Given the description of an element on the screen output the (x, y) to click on. 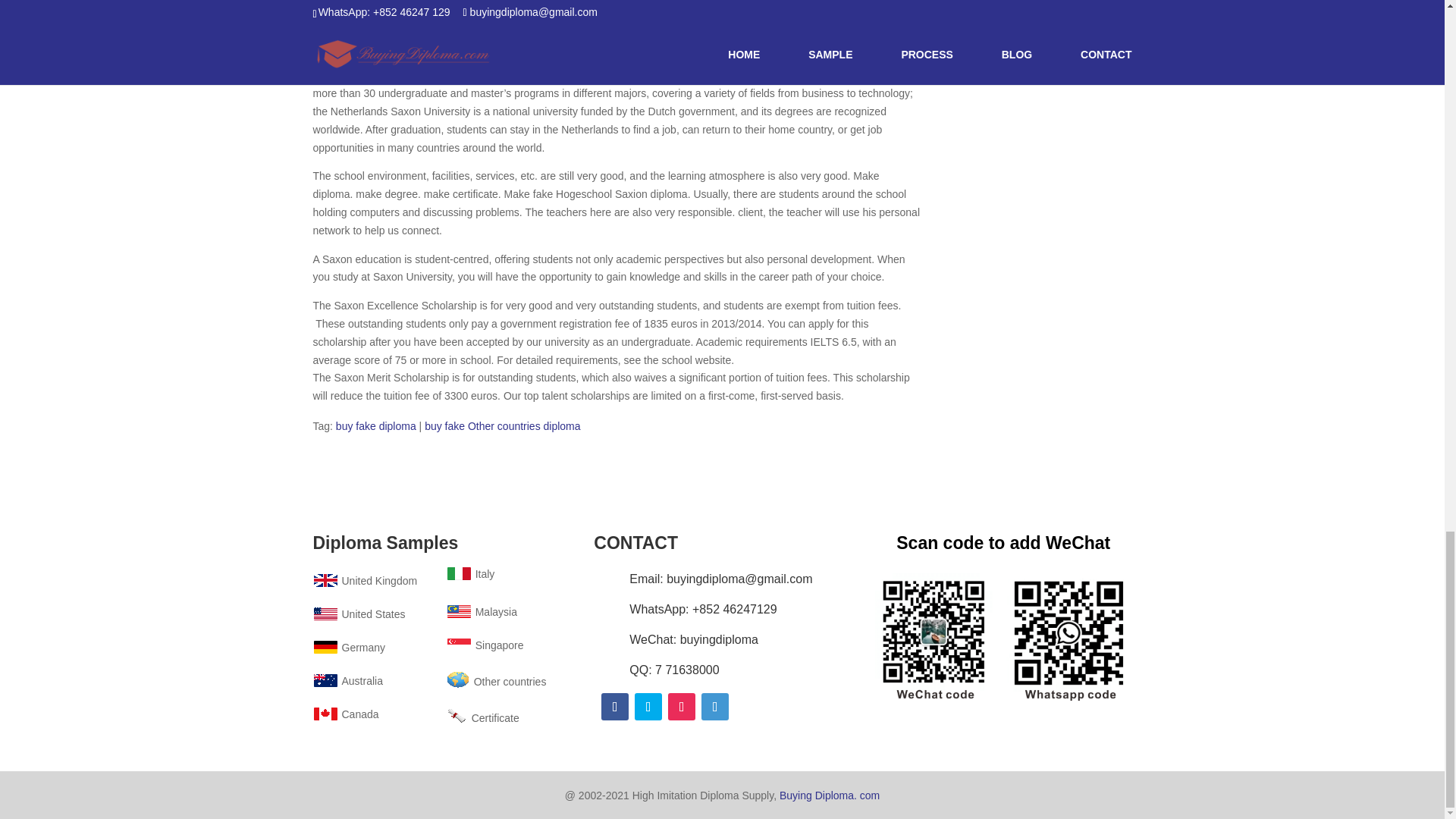
Follow on Facebook (614, 706)
United Kingdom (364, 581)
buy fake diploma (376, 426)
Apply for fake The University of Warwick diploma. (741, 74)
buy fake Other countries diploma (502, 426)
Follow on Instagram (681, 706)
Follow on Twitter (648, 706)
Follow on QQ (715, 706)
Wecha-code (1003, 636)
